Given the description of an element on the screen output the (x, y) to click on. 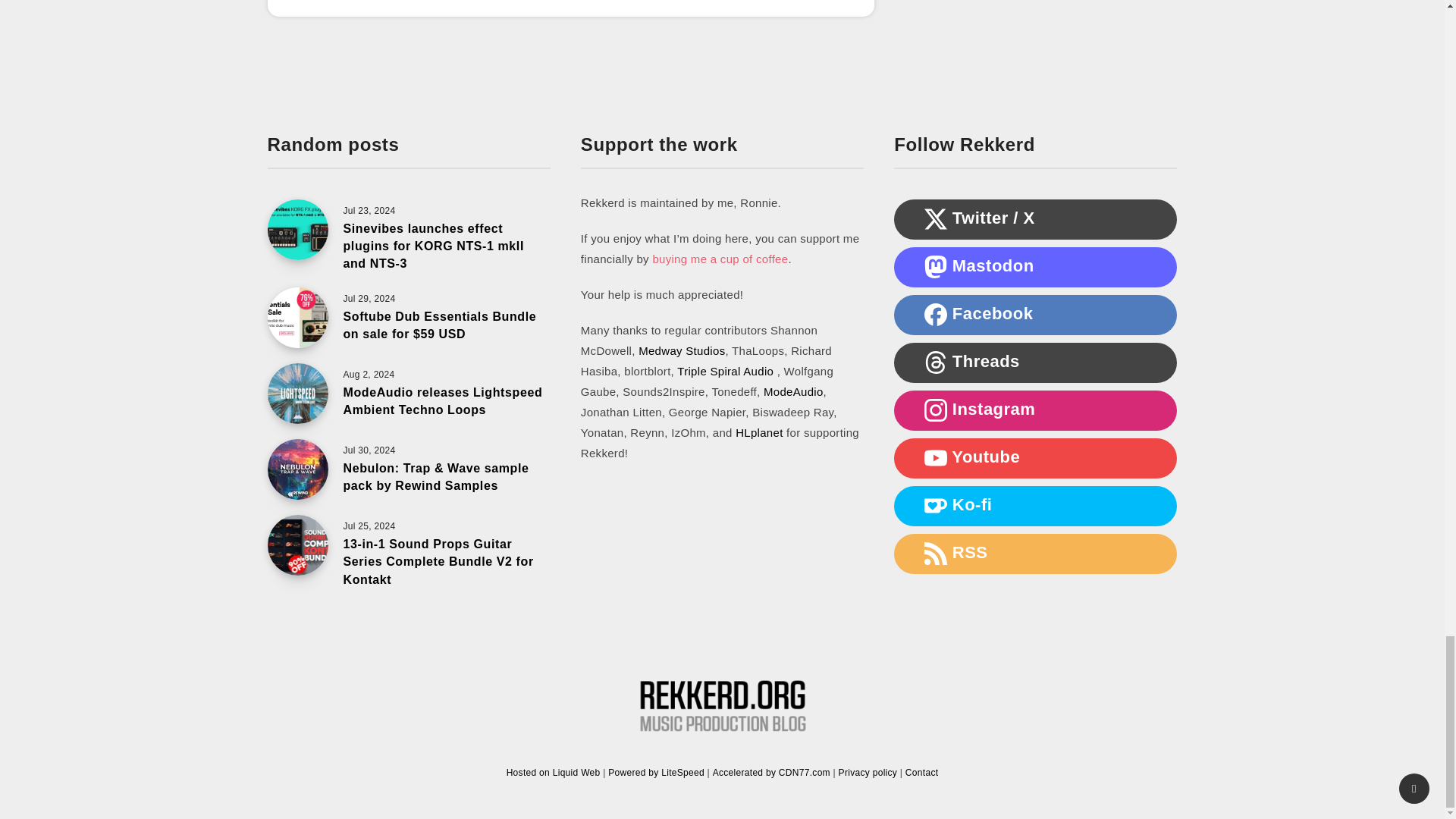
YouTube (935, 457)
Ko-fi (935, 505)
Instagram (935, 409)
Facebook (935, 314)
RSS (935, 553)
X (935, 219)
Mastodon (935, 266)
Threads (935, 362)
